Given the description of an element on the screen output the (x, y) to click on. 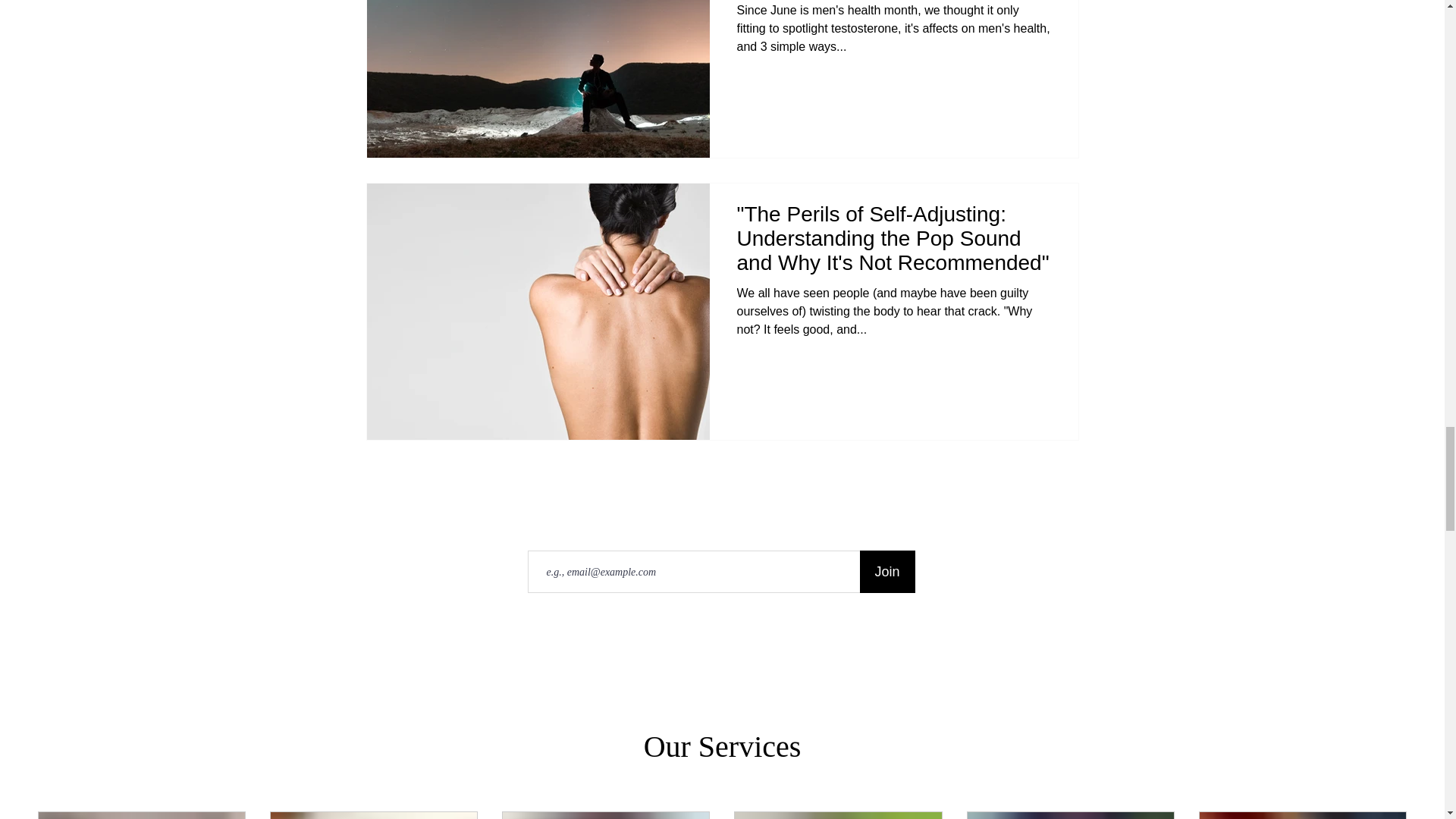
Join (887, 571)
